Given the description of an element on the screen output the (x, y) to click on. 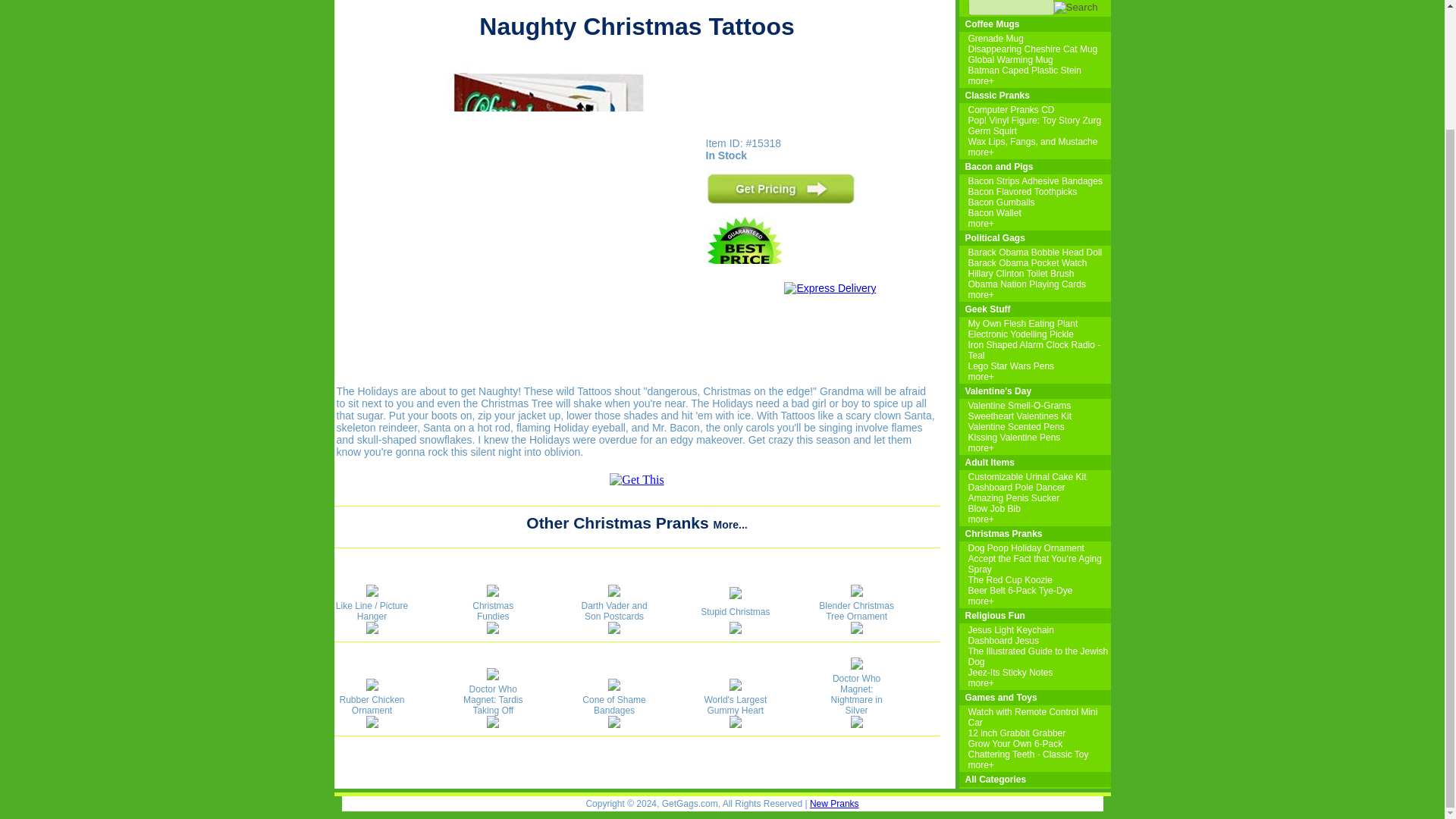
Naughty Christmas Tattoos (781, 200)
More Christmas Pranks (730, 524)
Grenade Mug (995, 38)
Naughty Christmas Tattoos (743, 287)
Disappearing Cheshire Cat Mug (1032, 49)
Best Price (743, 254)
More... (730, 524)
Like Line  Picture Hanger (371, 629)
Naughty Christmas Tattoos (549, 363)
Naughty Christmas Tattoos (636, 479)
